Given the description of an element on the screen output the (x, y) to click on. 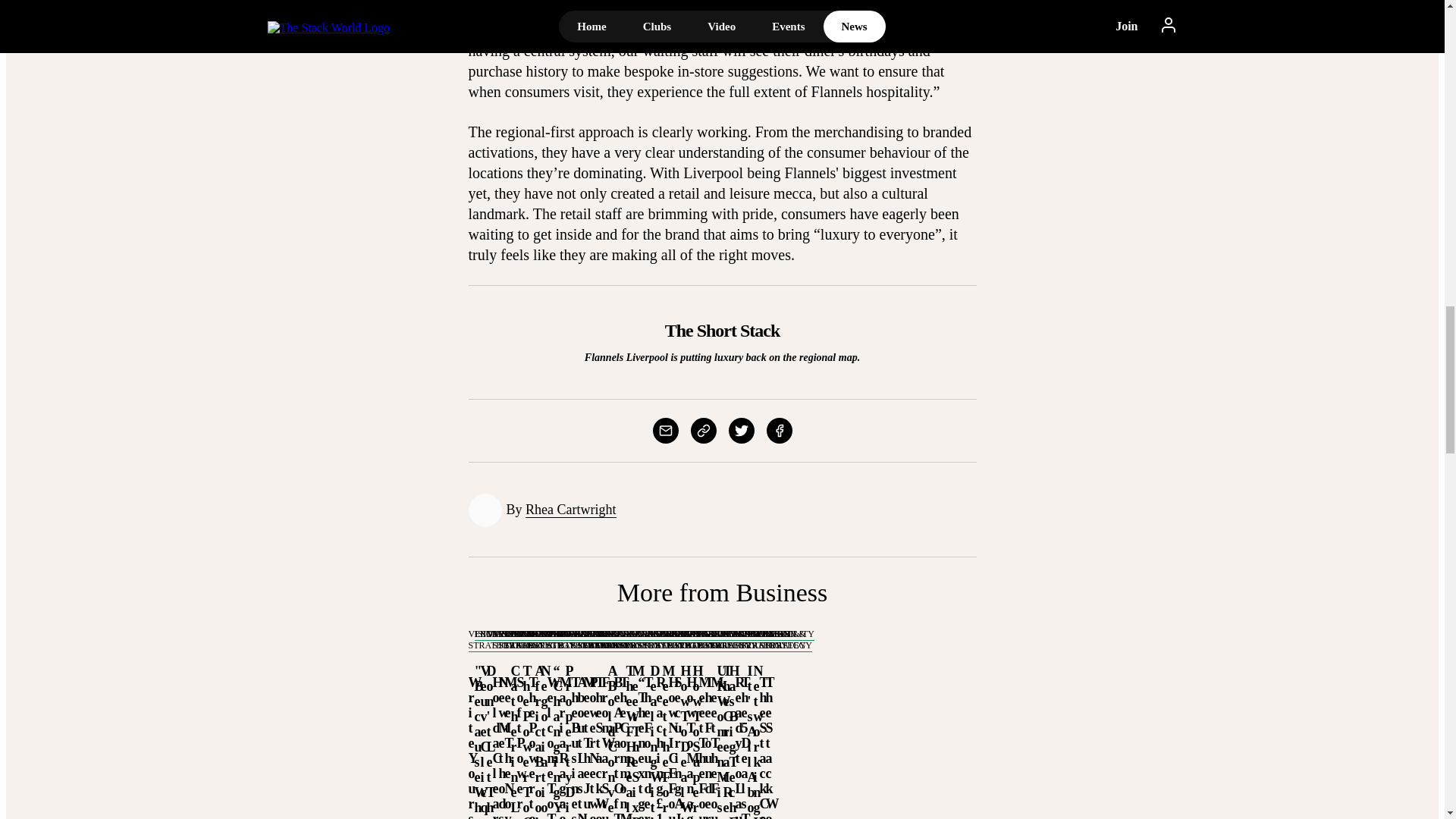
ENTREPRENEURSHIP (519, 634)
MANAGEMENT (519, 634)
ENTREPRENEURSHIP (525, 634)
